Given the description of an element on the screen output the (x, y) to click on. 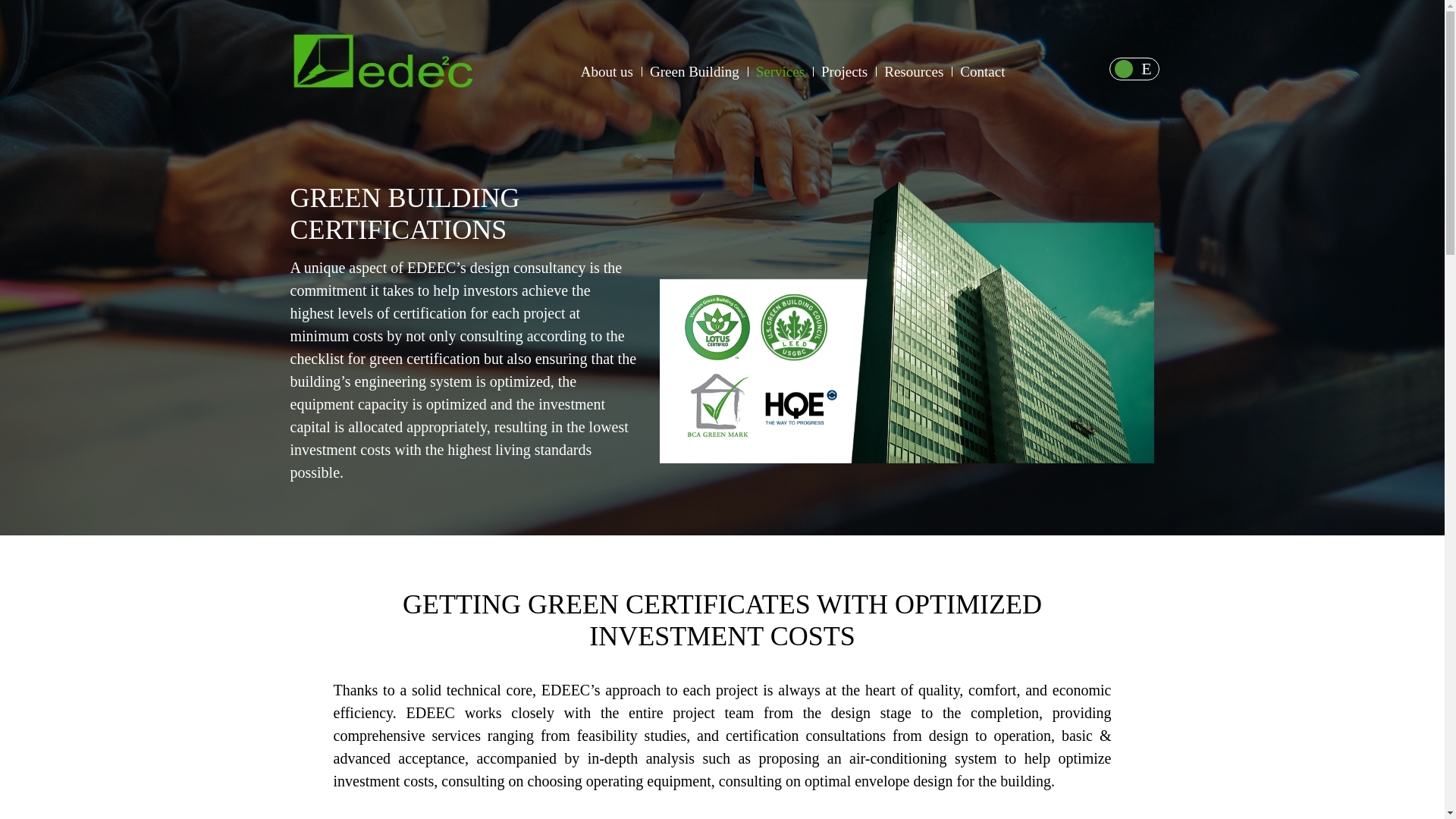
Contact (982, 71)
About us (607, 71)
Services (780, 71)
Projects (844, 71)
Green Building (694, 71)
Resources (1128, 68)
